Given the description of an element on the screen output the (x, y) to click on. 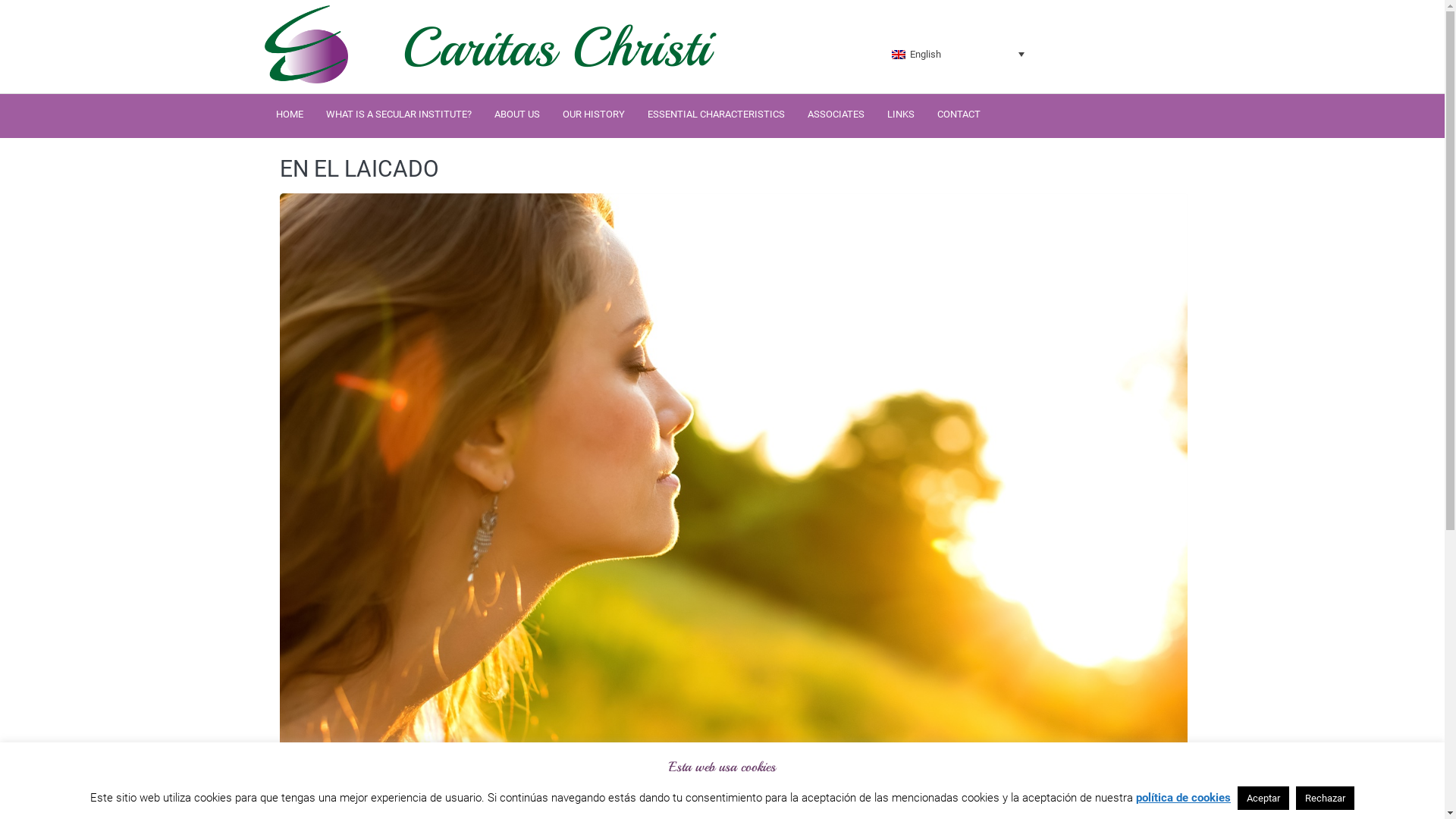
ASSOCIATES Element type: text (835, 114)
Aceptar Element type: text (1263, 797)
WHAT IS A SECULAR INSTITUTE? Element type: text (398, 114)
English Element type: hover (898, 54)
ESSENTIAL CHARACTERISTICS Element type: text (716, 114)
English Element type: text (957, 53)
OUR HISTORY Element type: text (593, 114)
LINKS Element type: text (900, 114)
EN EL LAICADO Element type: text (359, 168)
HOME Element type: text (289, 114)
CONTACT Element type: text (958, 114)
ABOUT US Element type: text (517, 114)
Rechazar Element type: text (1324, 797)
